Given the description of an element on the screen output the (x, y) to click on. 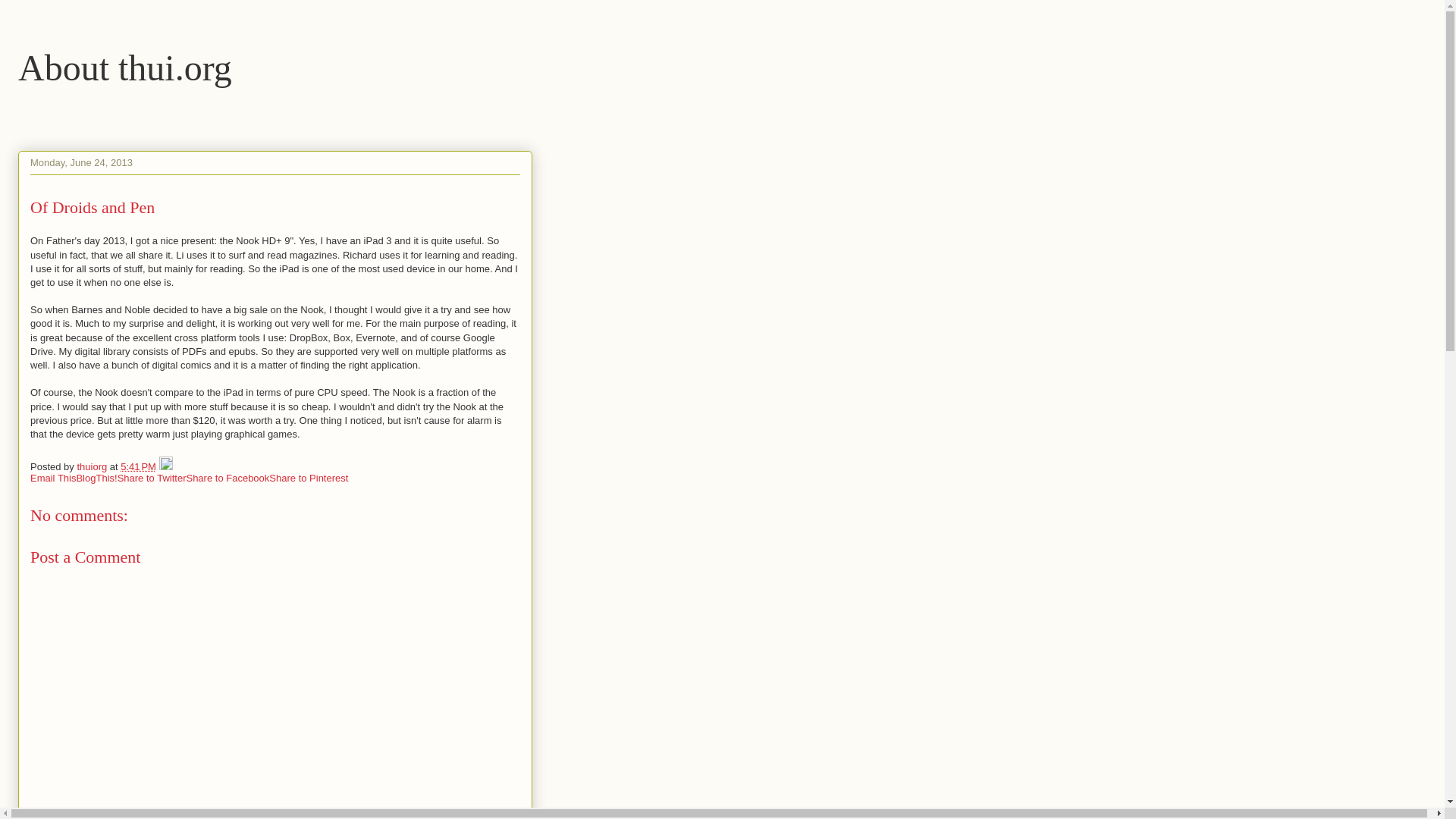
thuiorg (93, 466)
Share to Facebook (227, 478)
Share to Pinterest (308, 478)
About thui.org (124, 67)
permanent link (137, 466)
BlogThis! (95, 478)
Email This (52, 478)
Edit Post (165, 466)
Share to Twitter (151, 478)
Share to Twitter (151, 478)
BlogThis! (95, 478)
Share to Pinterest (308, 478)
Email This (52, 478)
Share to Facebook (227, 478)
